Given the description of an element on the screen output the (x, y) to click on. 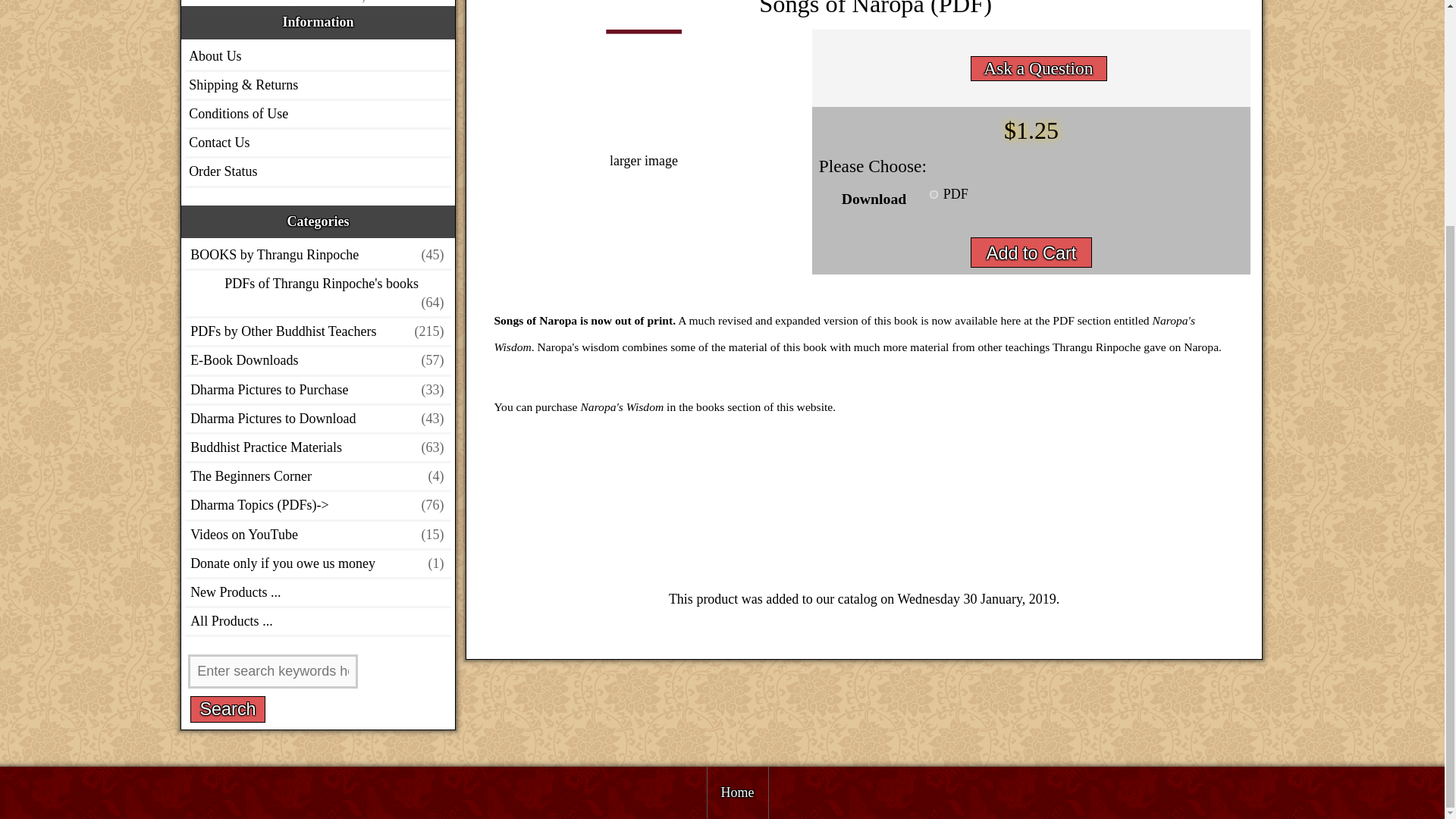
Add to Cart (1031, 252)
New Products ... (299, 592)
About Us (215, 56)
 Ask a Question  (1037, 66)
1 (933, 194)
Contact Us (218, 142)
Order Status (222, 171)
Conditions of Use (238, 113)
All Products ... (299, 621)
Search (228, 709)
Home (736, 792)
Search (228, 709)
Add to Cart (1031, 252)
larger image (643, 151)
Search (228, 709)
